Given the description of an element on the screen output the (x, y) to click on. 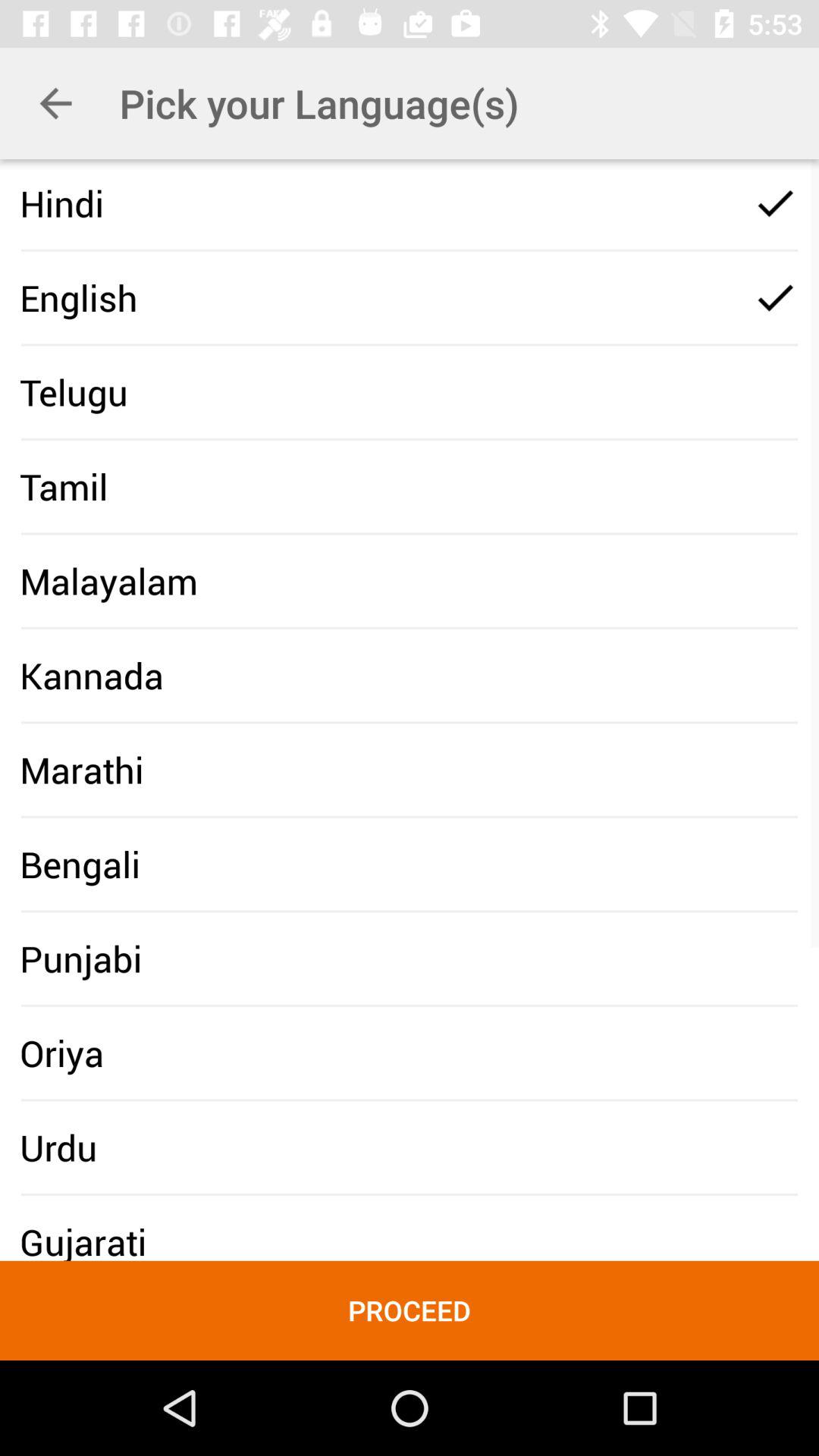
turn on the item above the hindi icon (55, 103)
